Given the description of an element on the screen output the (x, y) to click on. 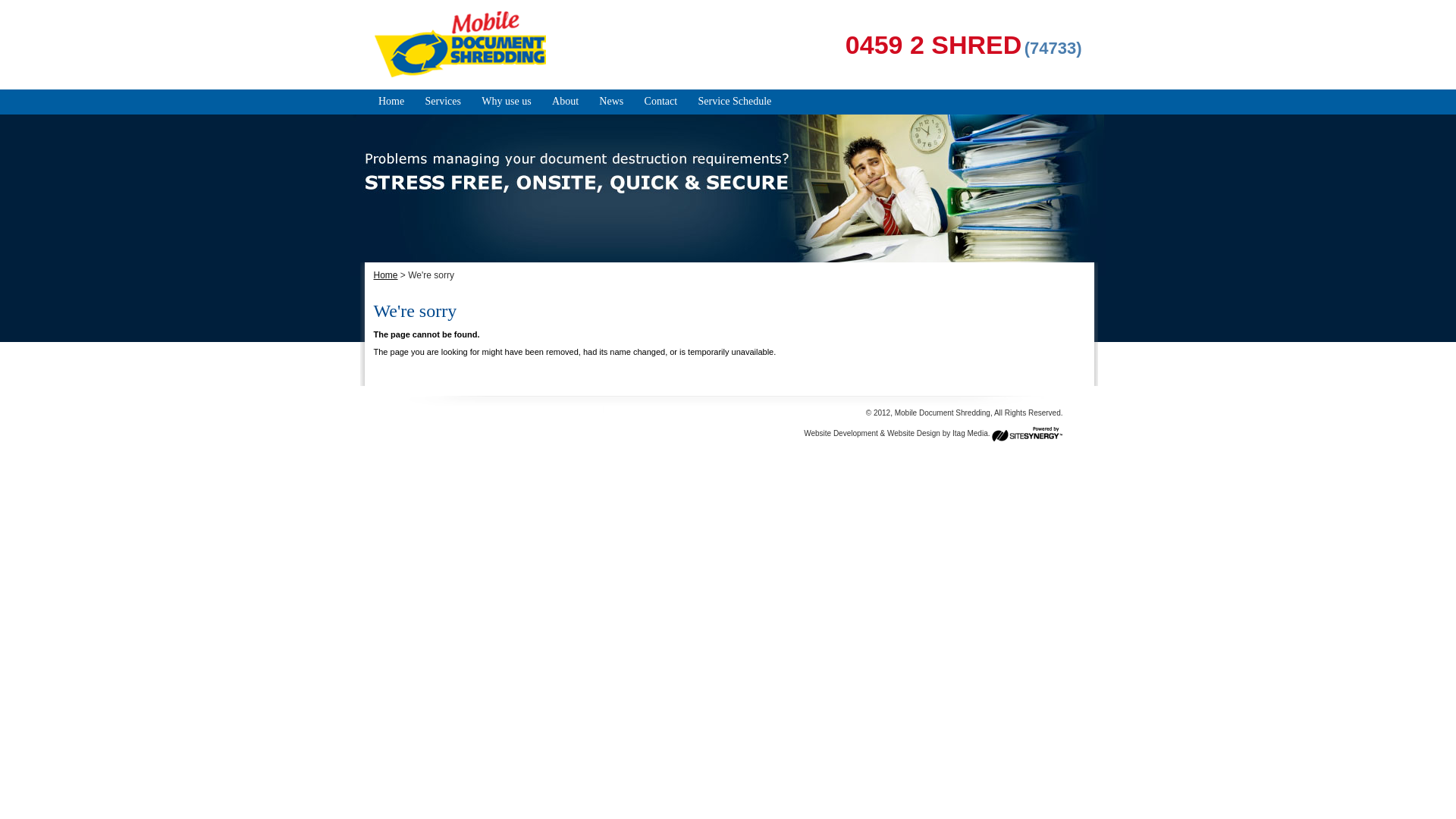
Why use us Element type: text (506, 101)
Home Element type: text (385, 274)
News Element type: text (610, 101)
Service Schedule Element type: text (734, 101)
Home Element type: text (391, 101)
Contact Element type: text (661, 101)
About Element type: text (564, 101)
Services Element type: text (443, 101)
Itag Media Element type: text (970, 433)
Button Element type: text (21, 11)
